Given the description of an element on the screen output the (x, y) to click on. 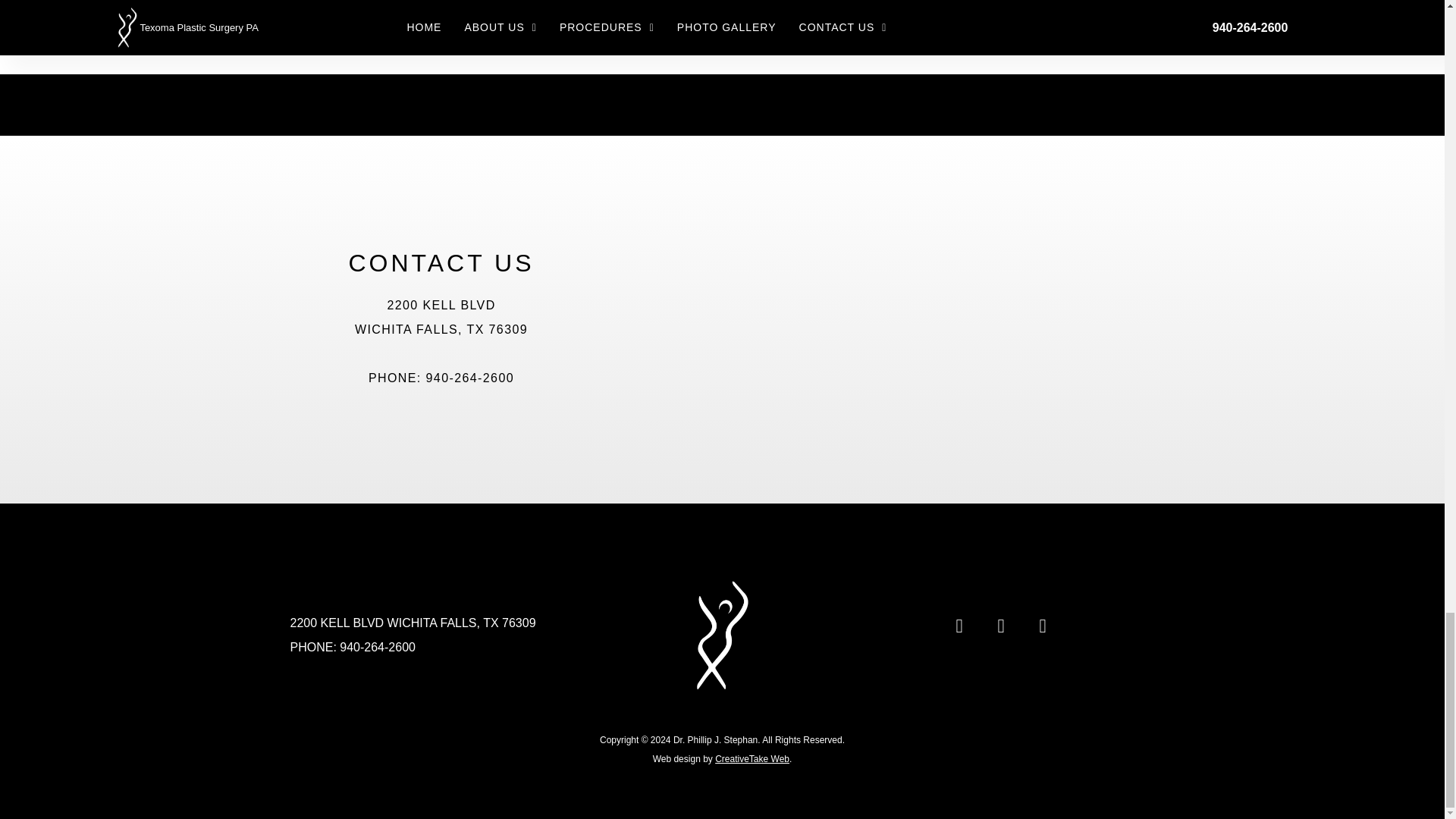
Texoma Plastic Surgery PA (873, 319)
